Given the description of an element on the screen output the (x, y) to click on. 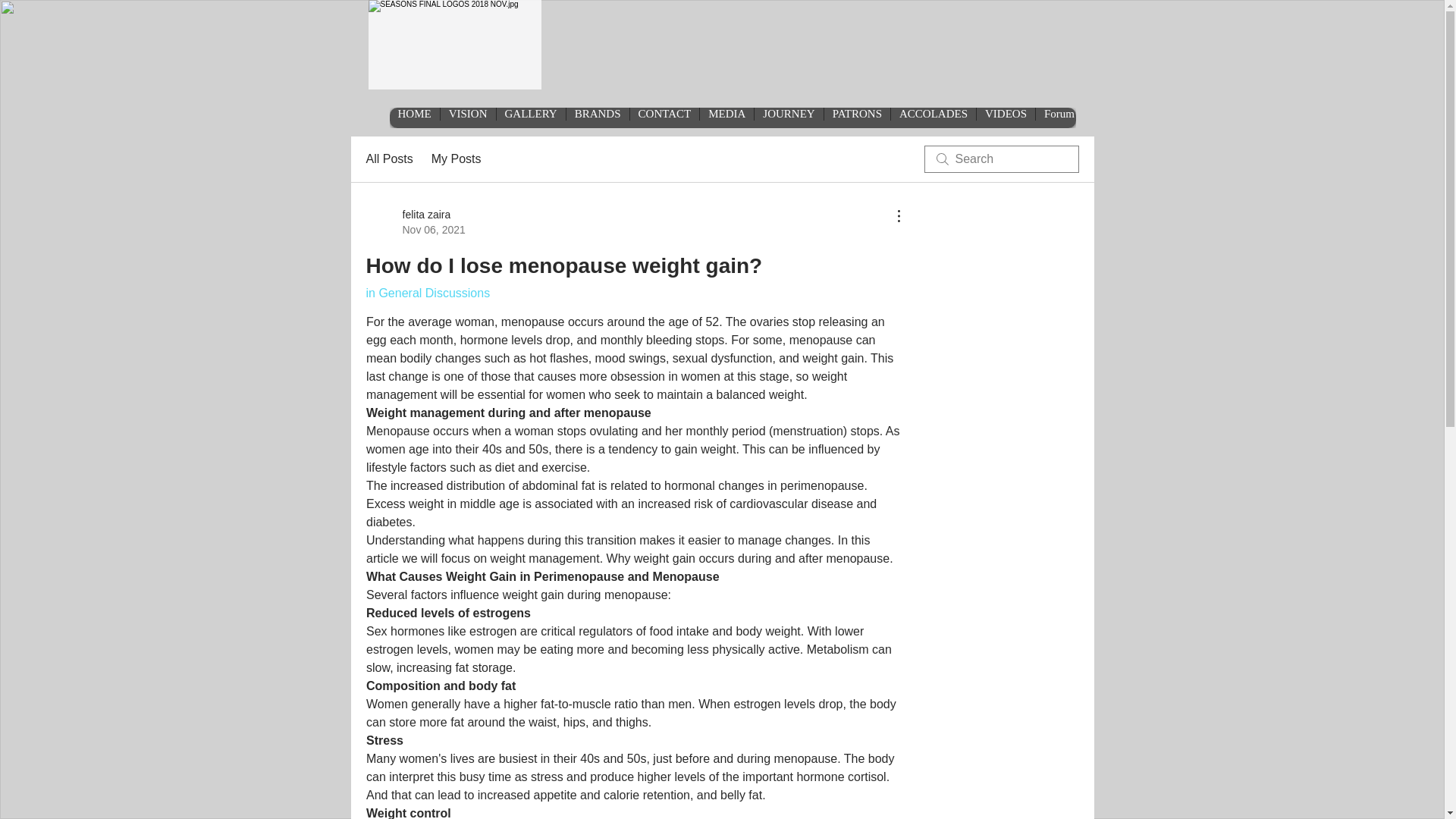
Forum (1059, 117)
All Posts (414, 222)
VIDEOS (388, 158)
PATRONS (1005, 117)
HOME (856, 117)
BRANDS (414, 117)
CONTACT (597, 117)
MEDIA (664, 117)
GALLERY (726, 117)
ACCOLADES (531, 117)
My Posts (932, 117)
in General Discussions (455, 158)
JOURNEY (427, 292)
VISION (788, 117)
